Given the description of an element on the screen output the (x, y) to click on. 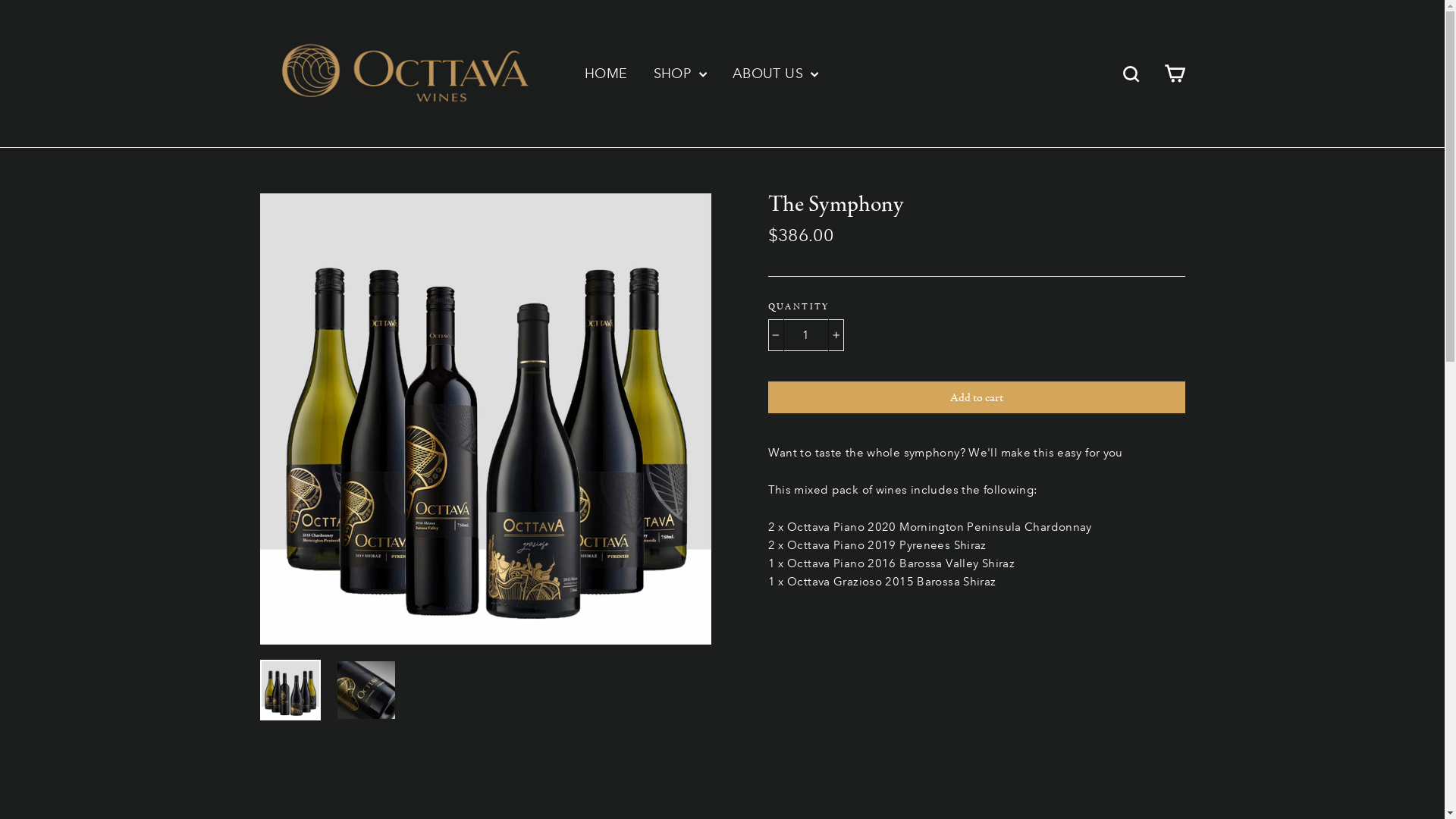
Add to cart Element type: text (975, 397)
HOME Element type: text (606, 73)
Cart Element type: text (1173, 72)
ABOUT US Element type: text (775, 73)
+ Element type: text (836, 335)
Search Element type: text (1131, 73)
Skip to content Element type: text (0, 0)
SHOP Element type: text (680, 73)
